Given the description of an element on the screen output the (x, y) to click on. 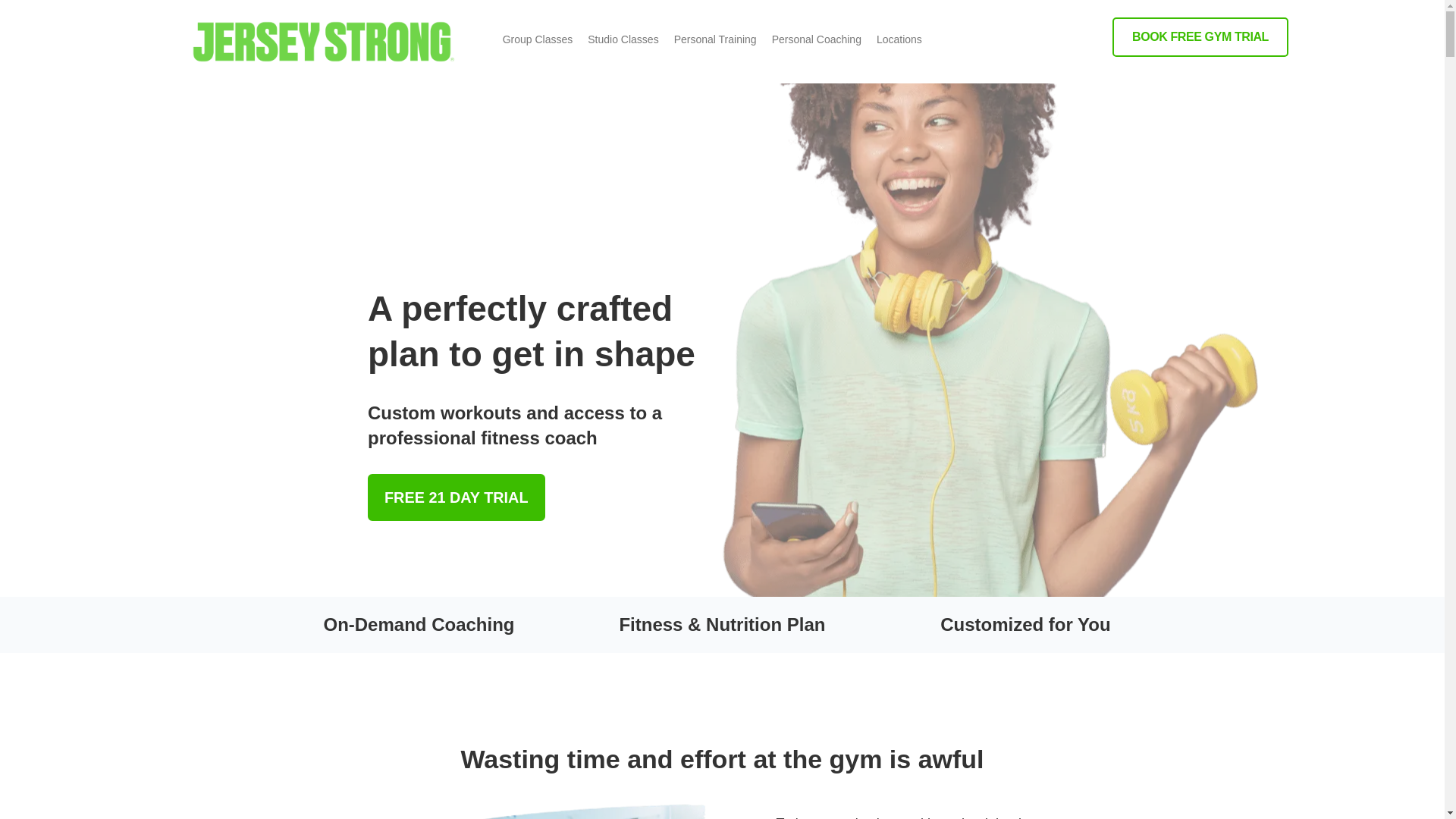
Studio Classes (622, 39)
Locations (899, 39)
Awful (556, 807)
FREE 21 DAY TRIAL (456, 497)
Group Classes (537, 39)
BOOK FREE GYM TRIAL (1200, 36)
Personal Training (715, 39)
Personal Coaching (816, 39)
